Given the description of an element on the screen output the (x, y) to click on. 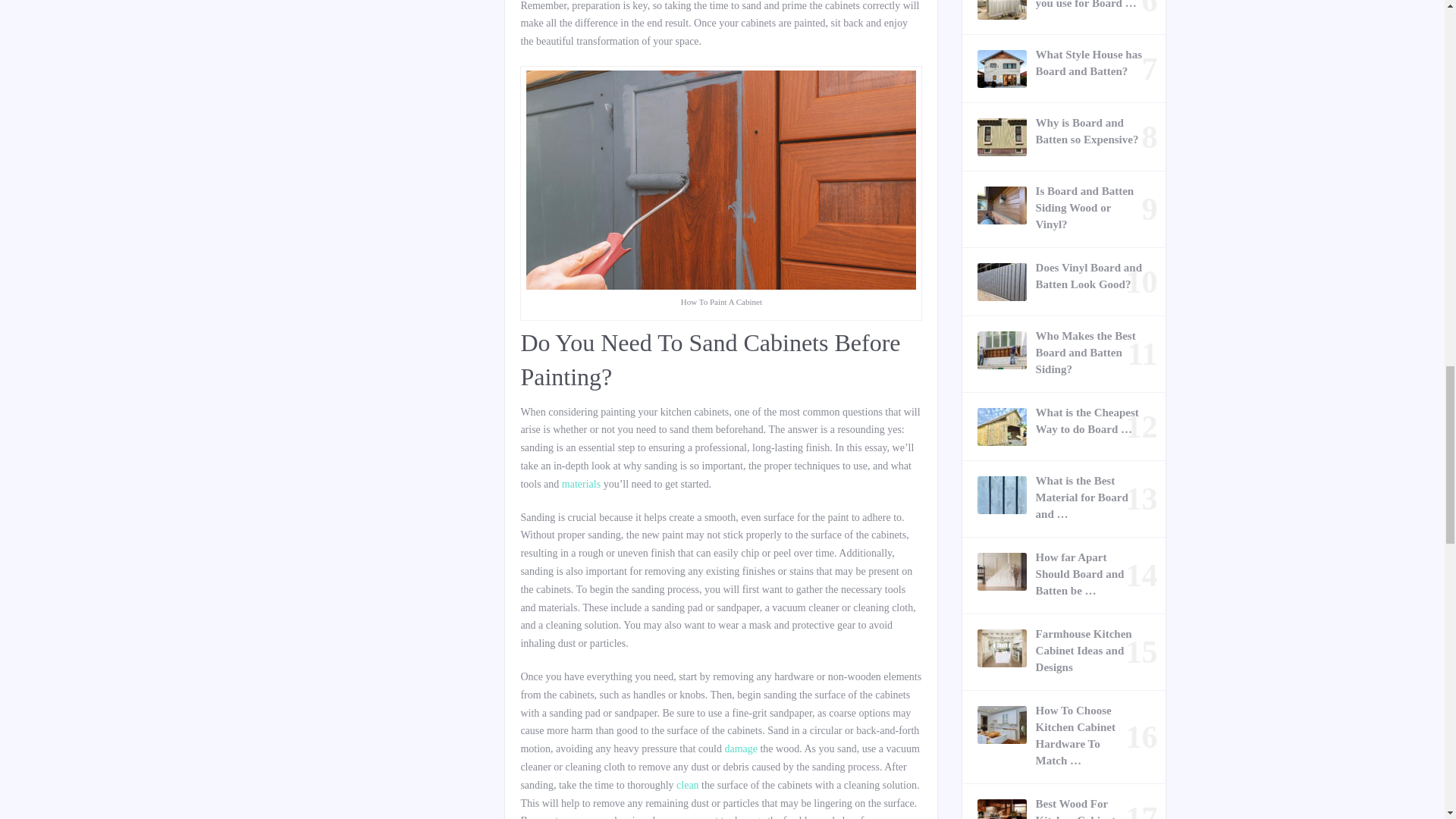
Posts tagged with clean (687, 785)
damage (740, 748)
clean (687, 785)
materials (580, 483)
Posts tagged with damage (740, 748)
Posts tagged with materials (580, 483)
